Given the description of an element on the screen output the (x, y) to click on. 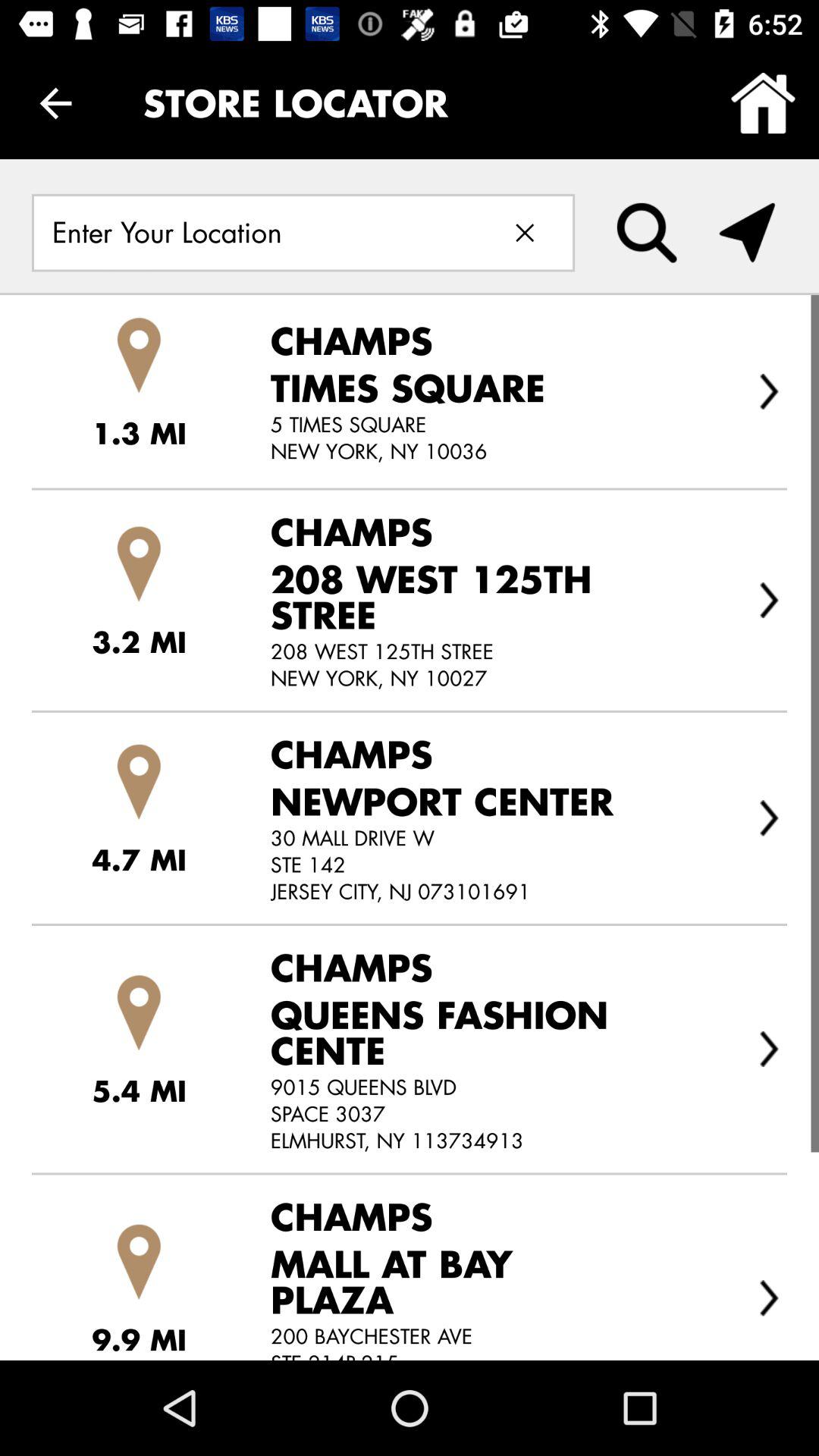
search (646, 232)
